Given the description of an element on the screen output the (x, y) to click on. 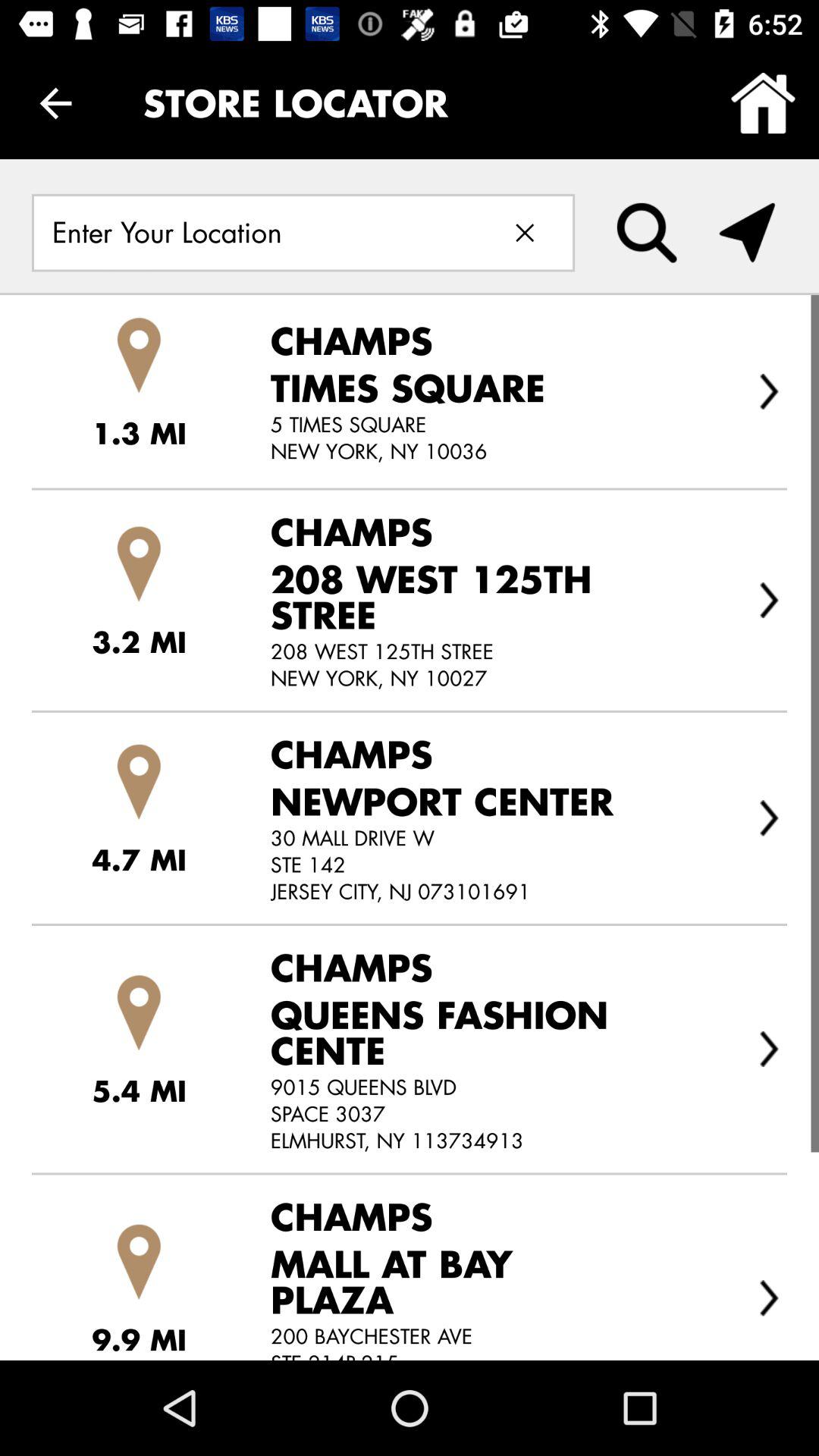
search (646, 232)
